Given the description of an element on the screen output the (x, y) to click on. 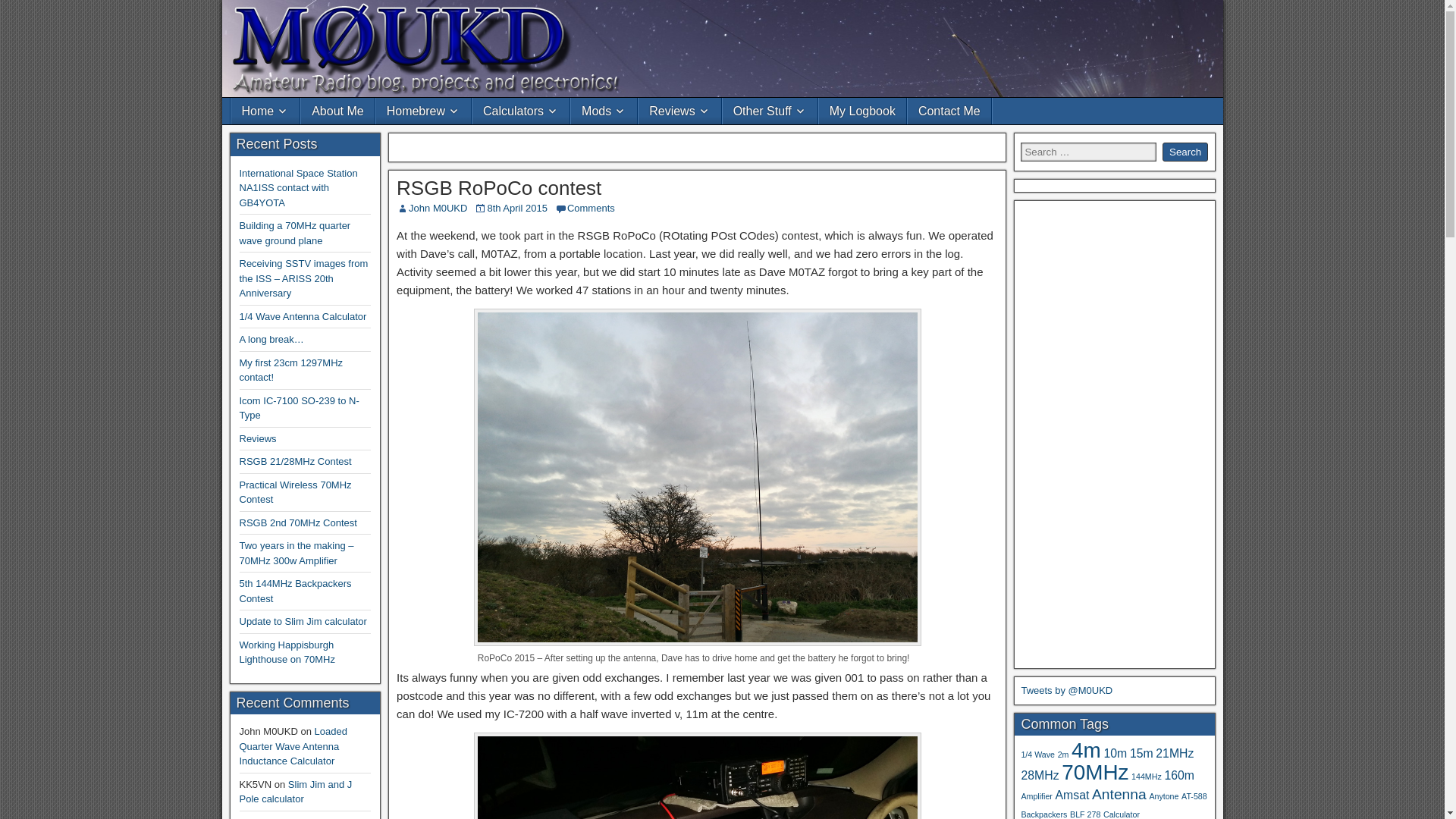
About Me (337, 110)
Advertisement (698, 144)
Search (1184, 151)
Home (264, 110)
Search (1184, 151)
Homebrew (422, 110)
Calculators (520, 110)
